Given the description of an element on the screen output the (x, y) to click on. 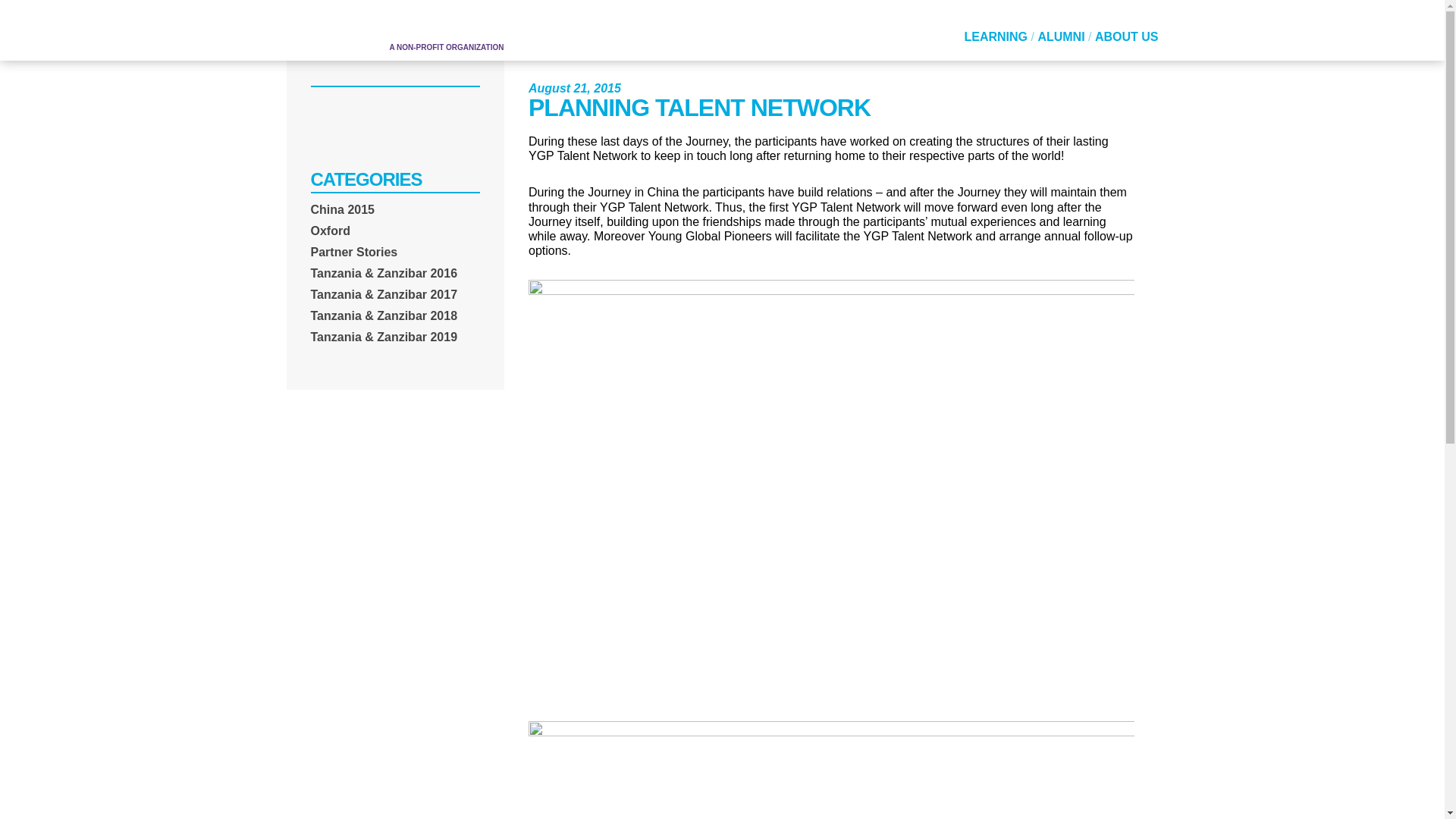
LEARNING (995, 36)
ABOUT US (1126, 36)
ALUMNI (1060, 36)
